Given the description of an element on the screen output the (x, y) to click on. 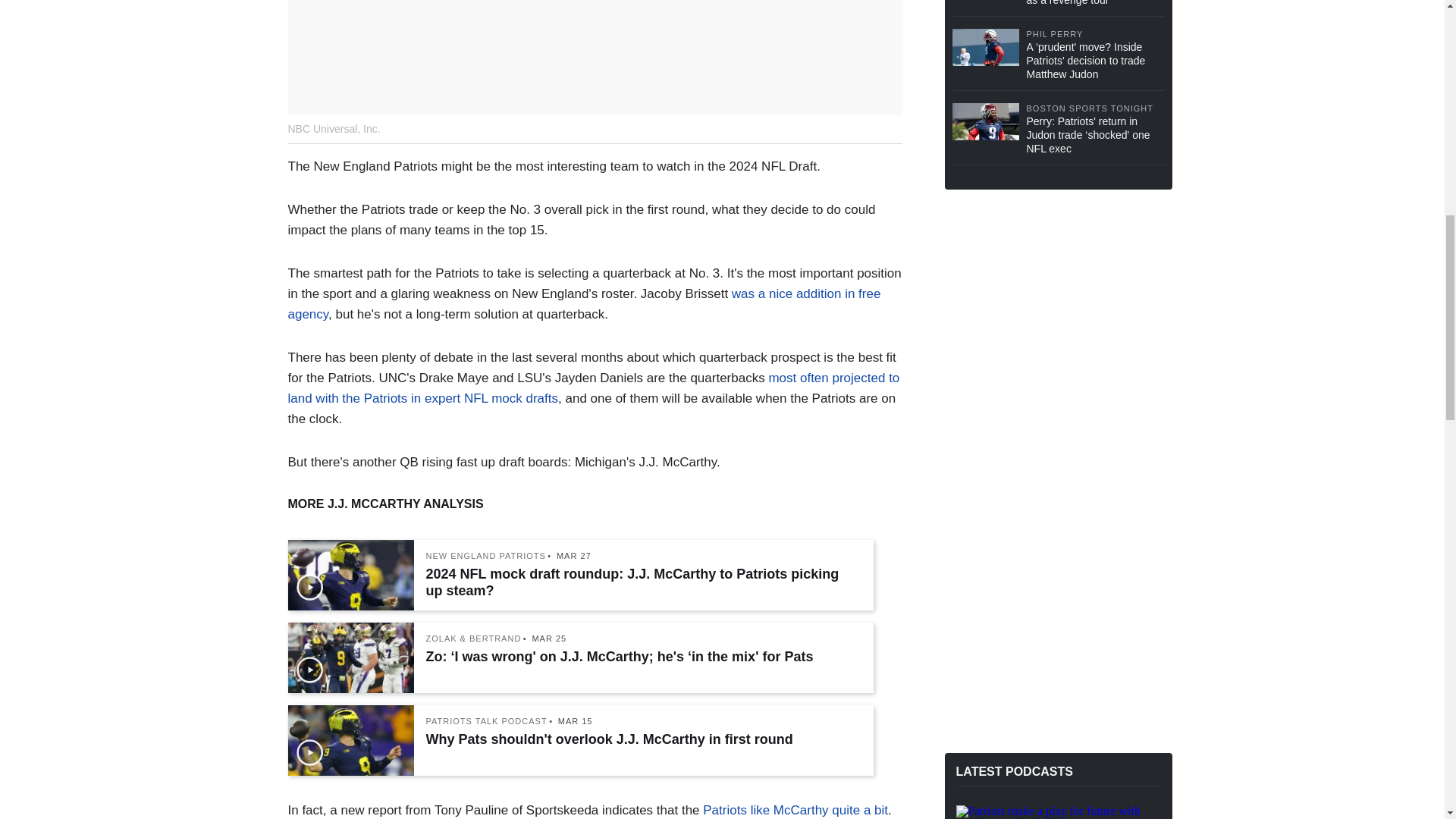
3rd party ad content (1058, 506)
3rd party ad content (1058, 298)
NEW ENGLAND PATRIOTS (486, 555)
Patriots like McCarthy quite a bit (795, 810)
PATRIOTS TALK PODCAST (486, 721)
Why Pats shouldn't overlook J.J. McCarthy in first round (642, 739)
was a nice addition in free agency (584, 303)
